Given the description of an element on the screen output the (x, y) to click on. 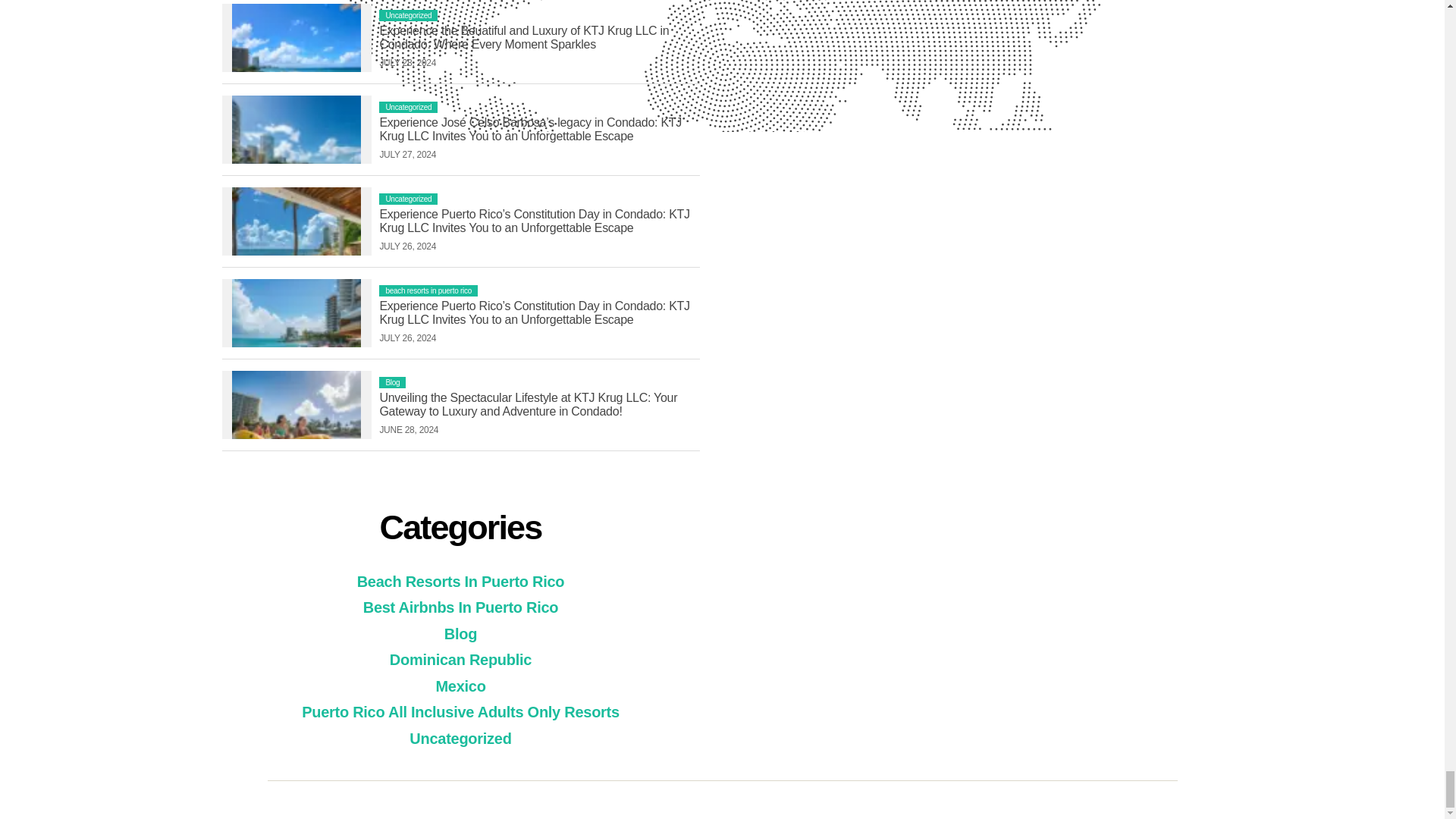
Uncategorized (408, 15)
Uncategorized (408, 107)
